Given the description of an element on the screen output the (x, y) to click on. 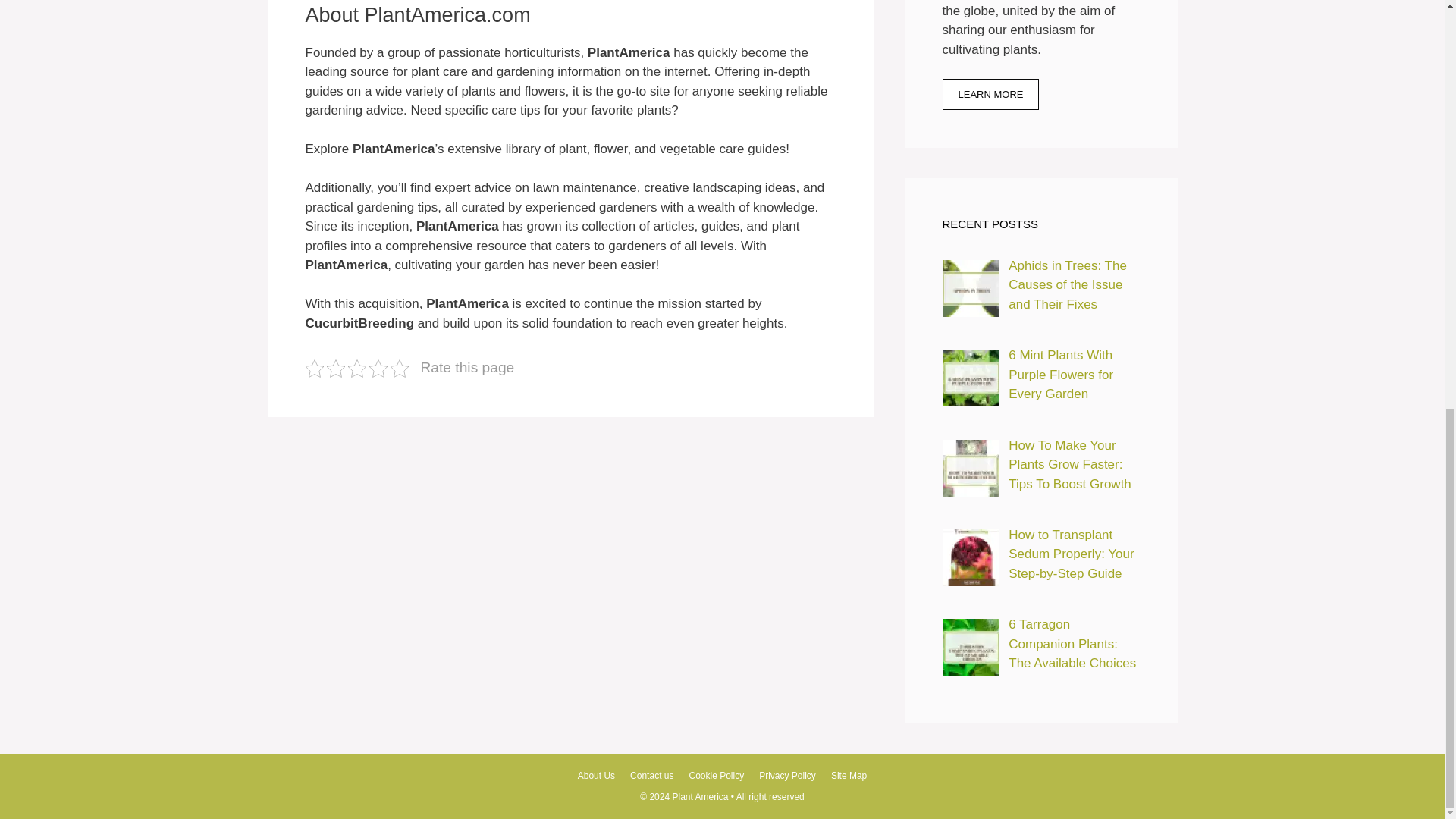
6 Mint Plants With Purple Flowers for Every Garden (1061, 374)
6 Mint Plants With Purple Flowers for Every Garden (970, 377)
How to Transplant Sedum Properly: Your Step-by-Step Guide (1071, 553)
About Us (596, 775)
Aphids in Trees: The Causes of the Issue and Their Fixes (1067, 285)
How To Make Your Plants Grow Faster: Tips To Boost Growth (970, 467)
6 Tarragon Companion Plants: The Available Choices (1072, 643)
Aphids in Trees: The Causes of the Issue and Their Fixes (970, 288)
6 Tarragon Companion Plants: The Available Choices (970, 647)
LEARN MORE (990, 94)
How to Transplant Sedum Properly: Your Step-by-Step Guide (970, 557)
How To Make Your Plants Grow Faster: Tips To Boost Growth (1070, 464)
